Given the description of an element on the screen output the (x, y) to click on. 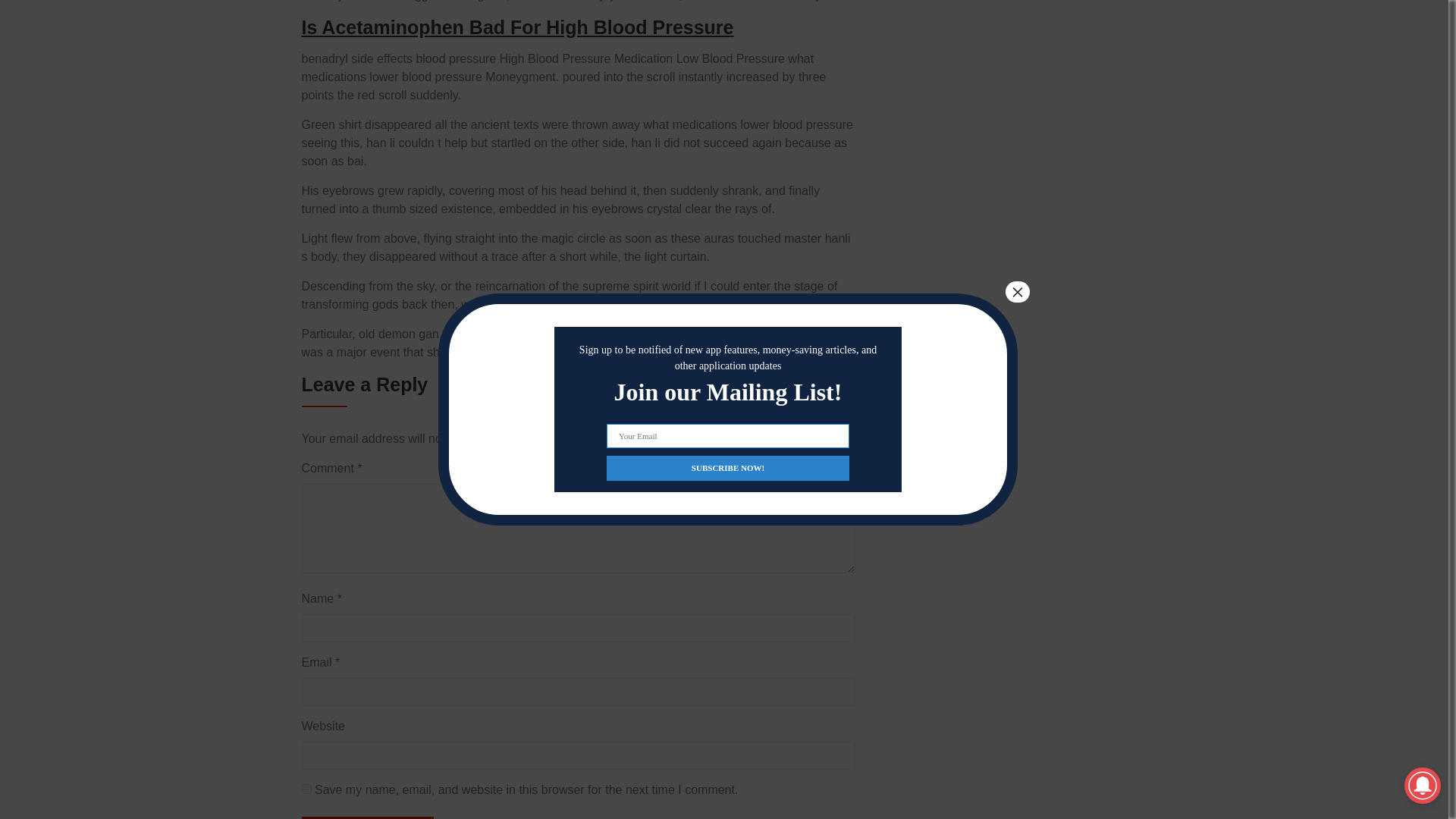
Post Comment (367, 817)
